Given the description of an element on the screen output the (x, y) to click on. 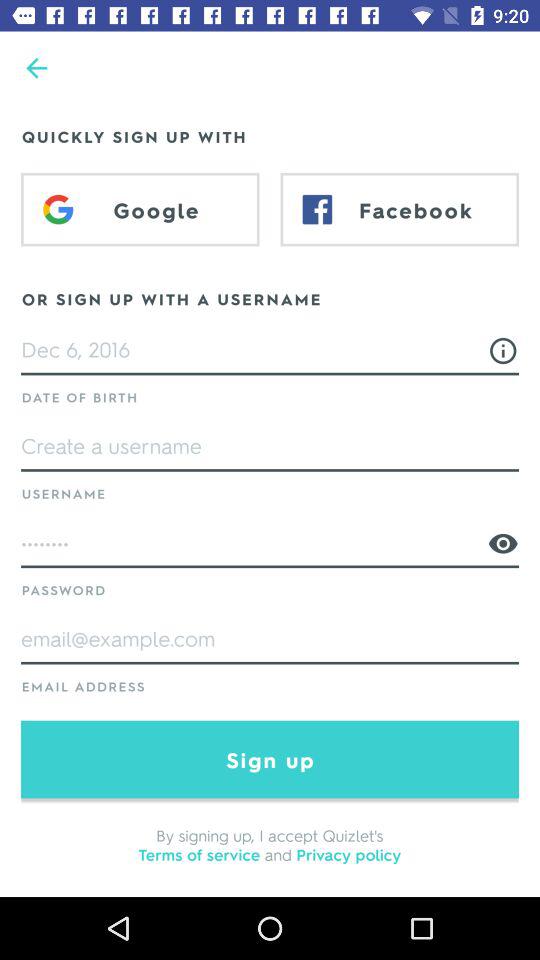
open facebook at the top right corner (399, 209)
